Given the description of an element on the screen output the (x, y) to click on. 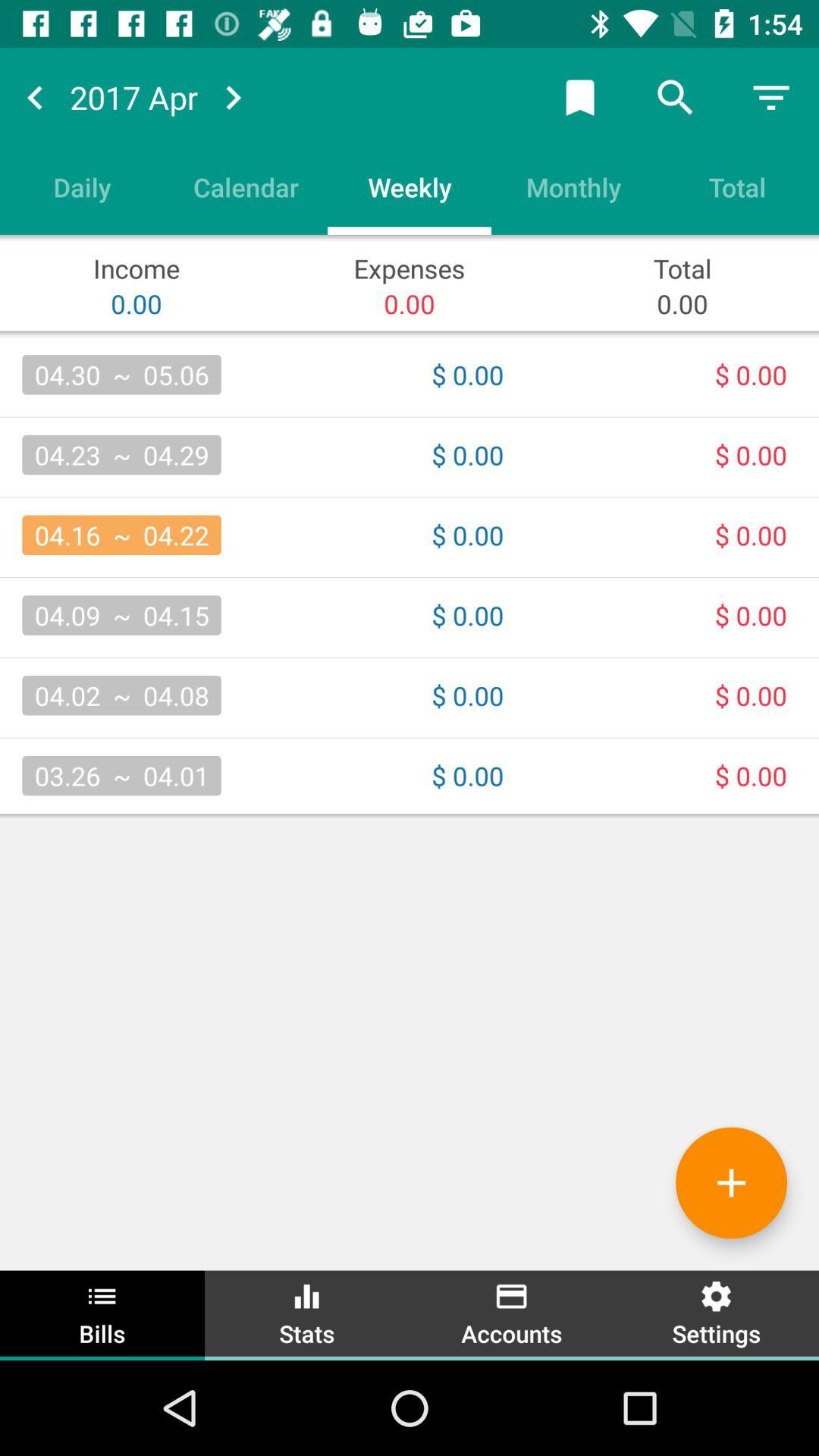
select icon next to weekly icon (573, 186)
